Given the description of an element on the screen output the (x, y) to click on. 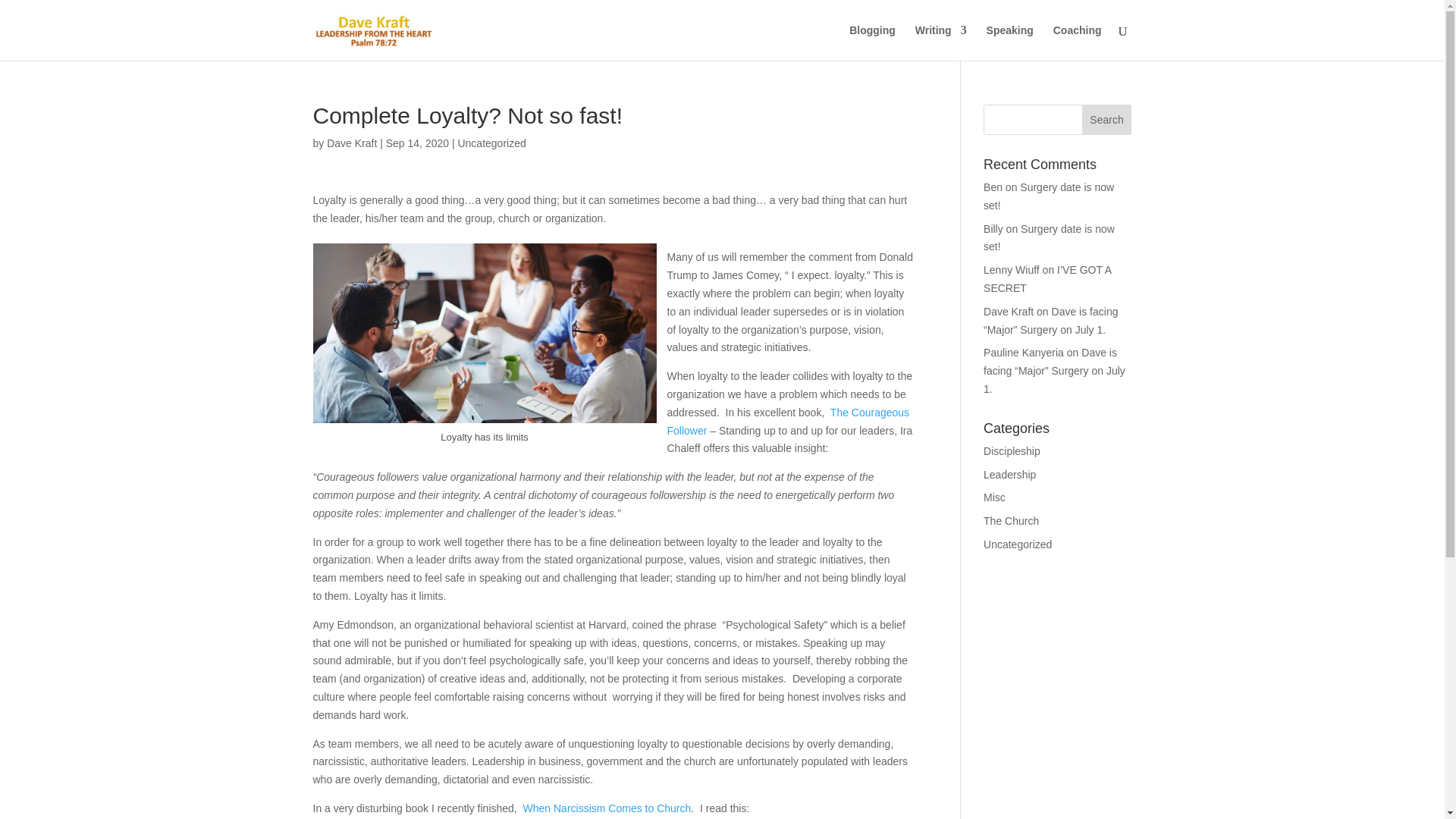
Coaching (1077, 42)
Surgery date is now set! (1048, 195)
Surgery date is now set! (1049, 237)
Search (1106, 119)
Blogging (871, 42)
Pauline Kanyeria (1024, 352)
The Church (1011, 521)
Misc (995, 497)
Discipleship (1012, 451)
Search (1106, 119)
